Given the description of an element on the screen output the (x, y) to click on. 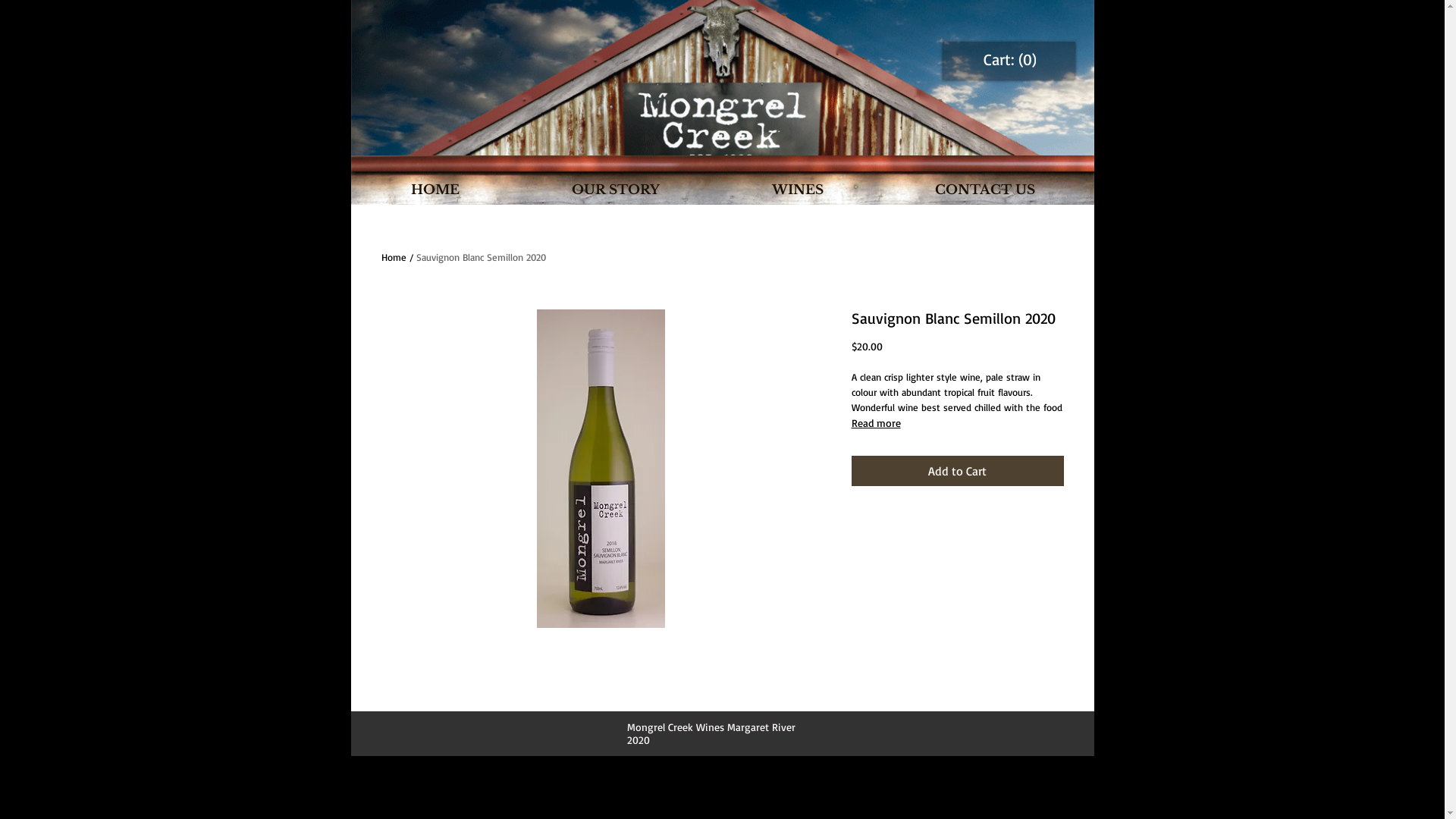
HOME Element type: text (434, 189)
MongrelMenu.gif Element type: hover (721, 180)
OUR STORY Element type: text (615, 189)
Sauvignon Blanc Semillon 2020 Element type: text (480, 257)
Add to Cart Element type: text (956, 470)
MongrelRoof.gif Element type: hover (721, 77)
Read more Element type: text (956, 422)
Cart: (0) Element type: text (1008, 59)
CONTACT US Element type: text (985, 189)
Home Element type: text (392, 257)
WINES Element type: text (797, 189)
